Given the description of an element on the screen output the (x, y) to click on. 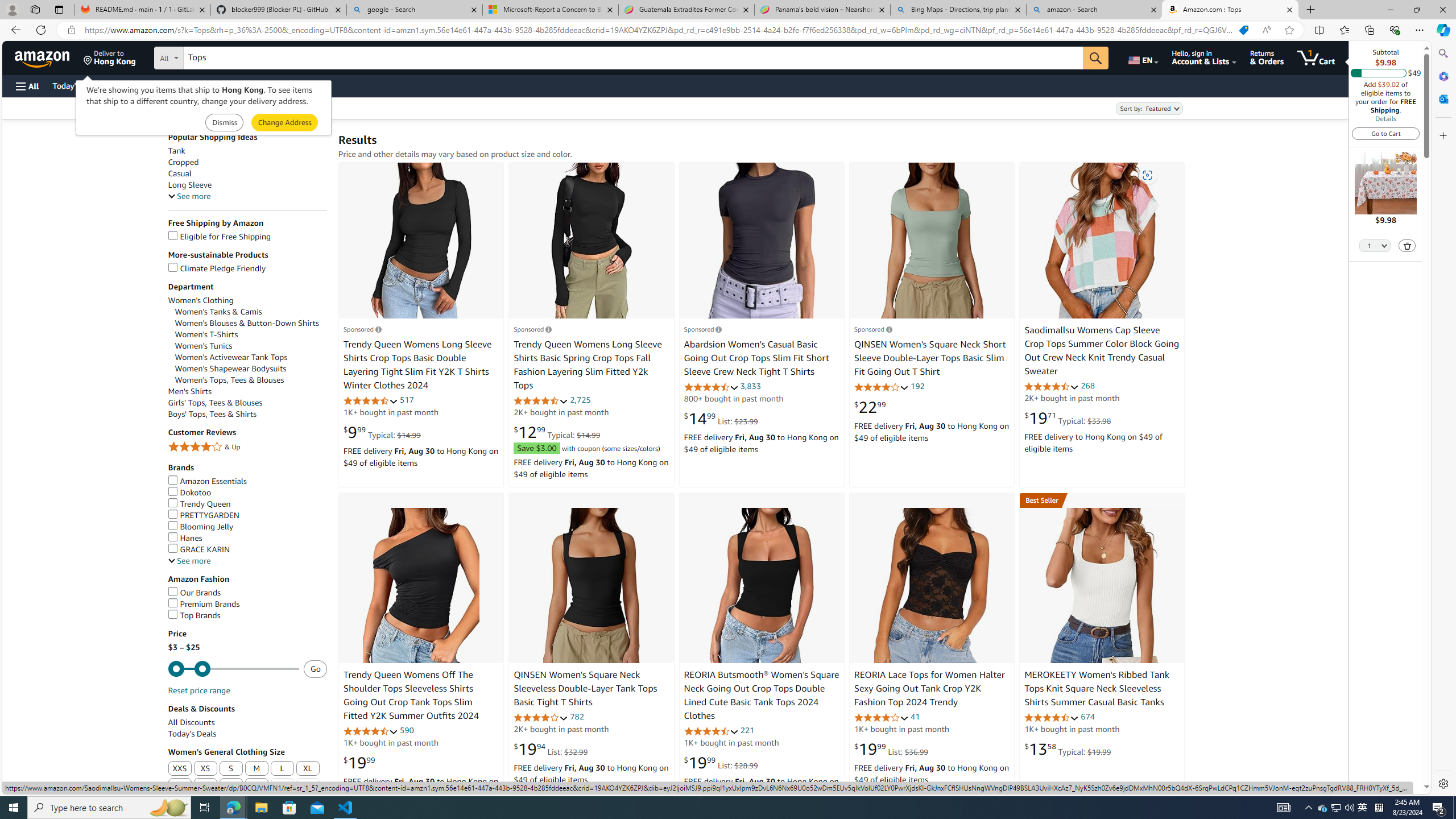
M (256, 768)
XXS (179, 768)
GRACE KARIN (247, 549)
Climate Pledge Friendly (247, 268)
1 item in cart (1315, 57)
4XL (230, 785)
3XL (204, 785)
Premium Brands (247, 604)
Go (1096, 57)
4.5 out of 5 stars (1051, 717)
Women's Tanks & Camis (218, 311)
